Given the description of an element on the screen output the (x, y) to click on. 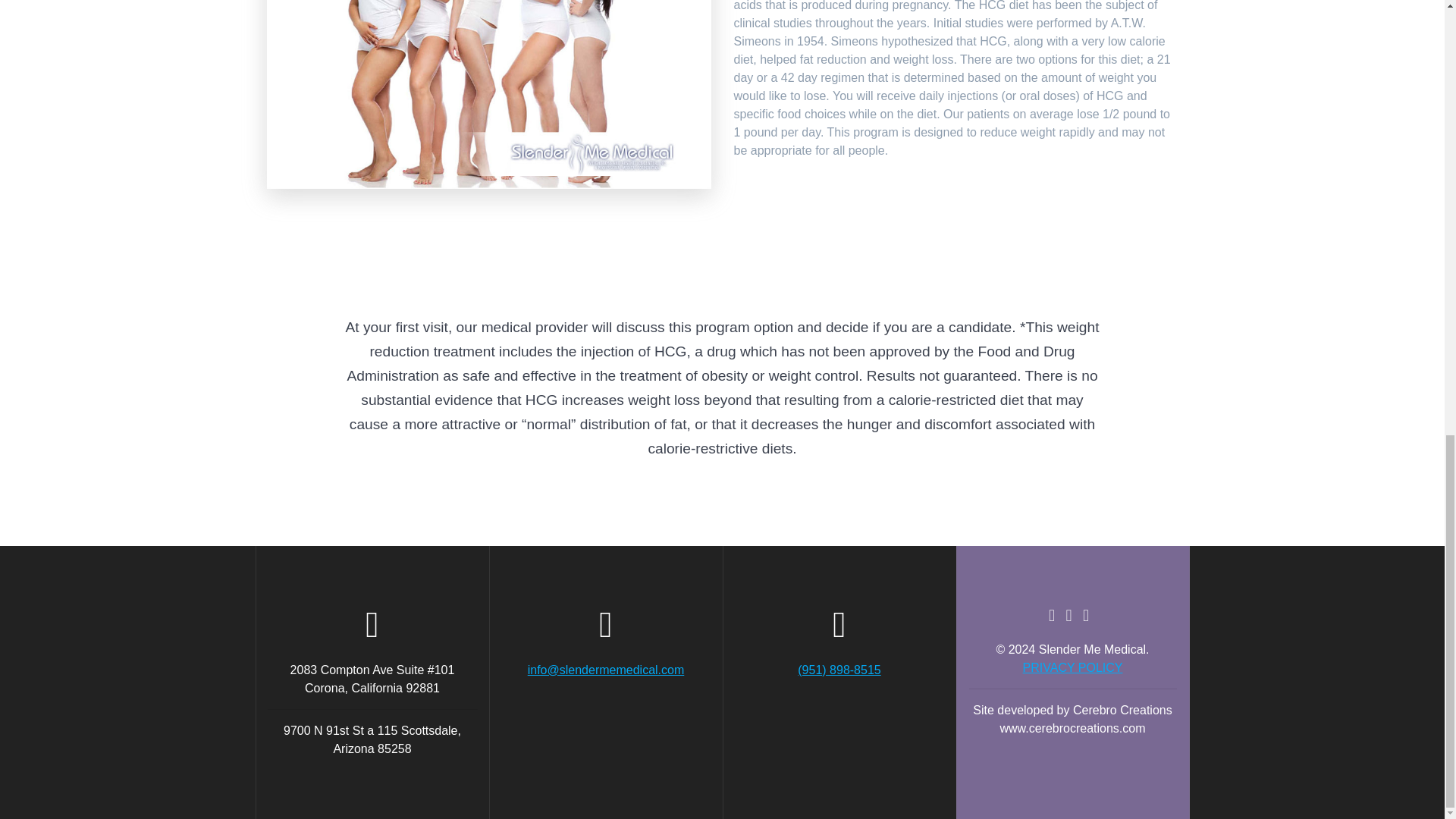
HGC-2 (488, 94)
PRIVACY POLICY (1072, 667)
